Given the description of an element on the screen output the (x, y) to click on. 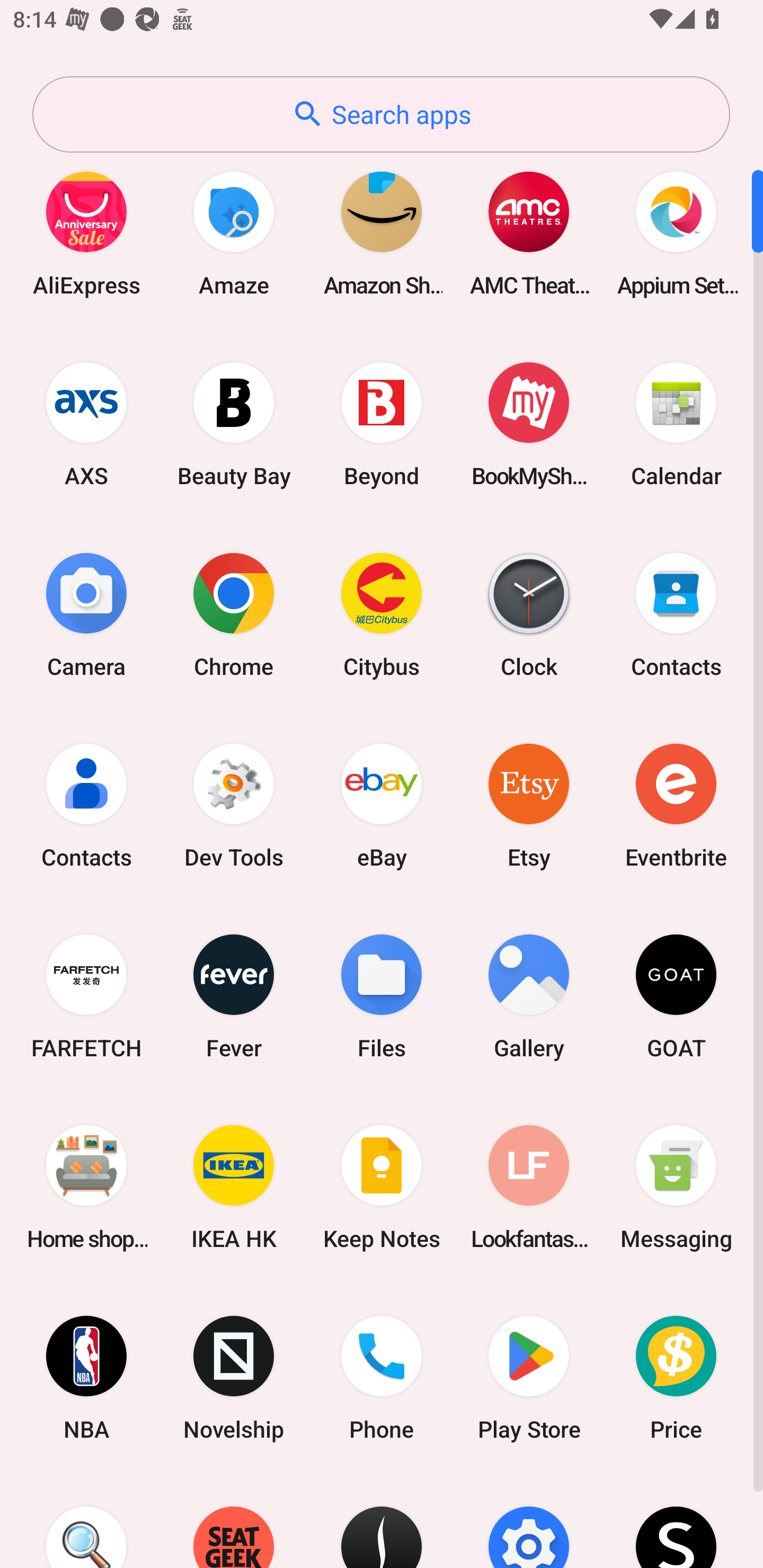
  Search apps (381, 114)
AliExpress (86, 233)
Amaze (233, 233)
Amazon Shopping (381, 233)
AMC Theatres (528, 233)
Appium Settings (676, 233)
AXS (86, 424)
Beauty Bay (233, 424)
Beyond (381, 424)
BookMyShow (528, 424)
Calendar (676, 424)
Camera (86, 614)
Chrome (233, 614)
Citybus (381, 614)
Clock (528, 614)
Contacts (676, 614)
Contacts (86, 805)
Dev Tools (233, 805)
eBay (381, 805)
Etsy (528, 805)
Eventbrite (676, 805)
FARFETCH (86, 996)
Fever (233, 996)
Files (381, 996)
Gallery (528, 996)
GOAT (676, 996)
Home shopping (86, 1186)
IKEA HK (233, 1186)
Keep Notes (381, 1186)
Lookfantastic (528, 1186)
Messaging (676, 1186)
NBA (86, 1377)
Novelship (233, 1377)
Phone (381, 1377)
Play Store (528, 1377)
Price (676, 1377)
